Given the description of an element on the screen output the (x, y) to click on. 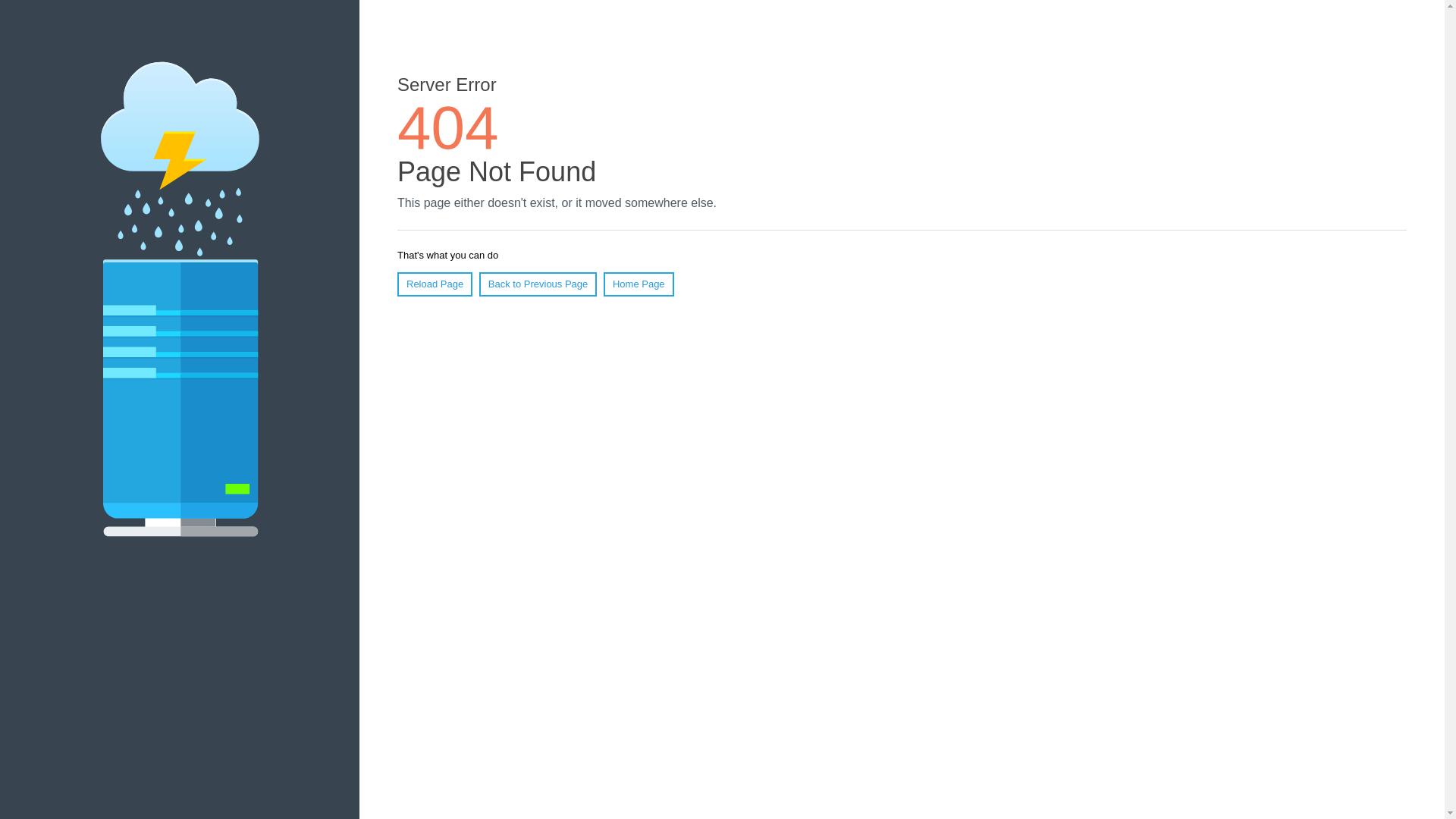
Home Page Element type: text (638, 284)
Reload Page Element type: text (434, 284)
Back to Previous Page Element type: text (538, 284)
